Given the description of an element on the screen output the (x, y) to click on. 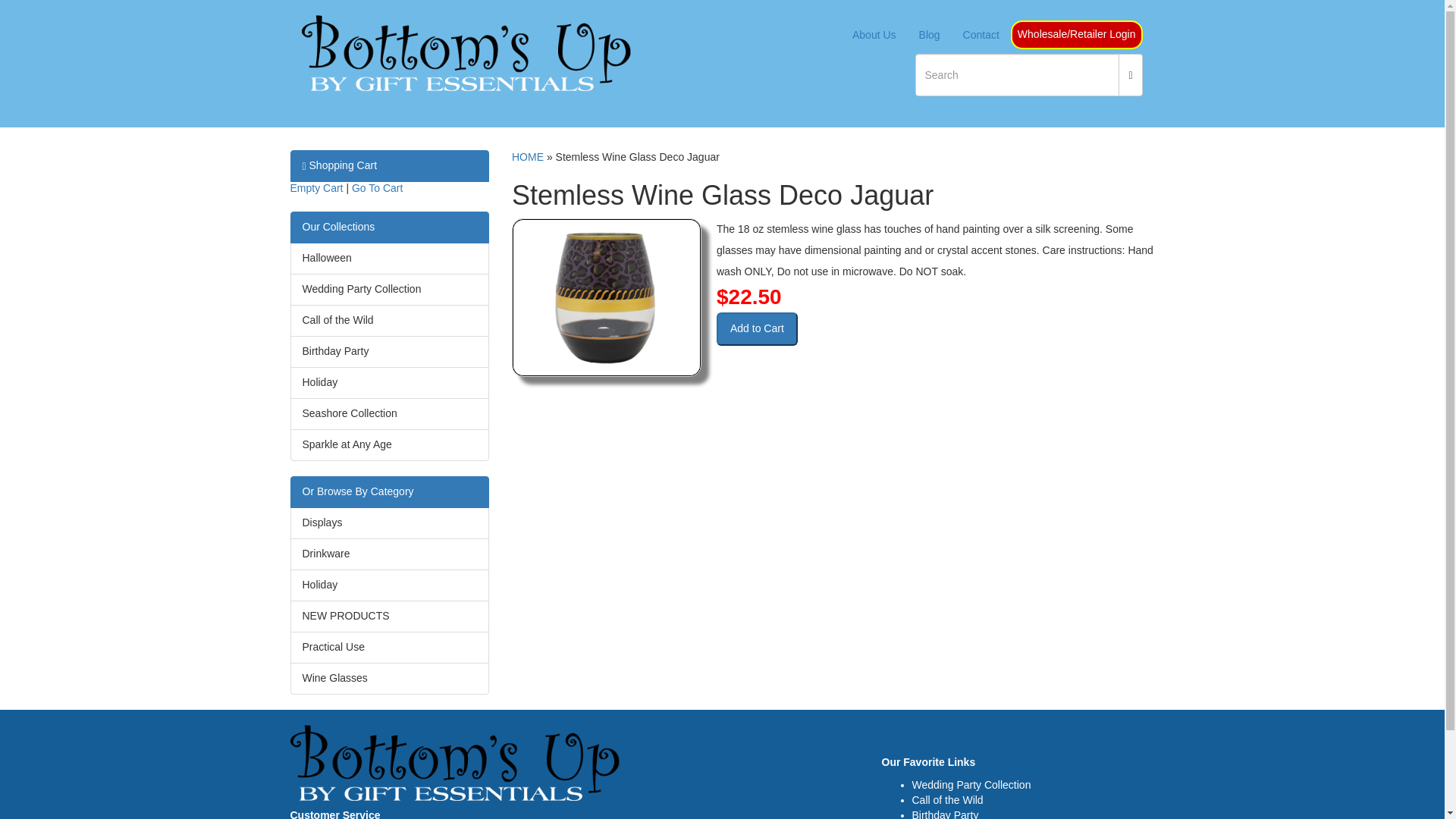
Holiday (319, 381)
About Us (874, 34)
Birthday Party (944, 814)
Seashore Collection (348, 413)
Sparkle at Any Age (346, 444)
Go To Cart (377, 187)
Birthday Party (334, 350)
Drinkware (325, 553)
Add to Cart (756, 328)
NEW PRODUCTS (344, 615)
Displays (321, 522)
Wedding Party Collection (970, 784)
Call of the Wild (336, 319)
Empty Cart (315, 187)
HOME (527, 156)
